Given the description of an element on the screen output the (x, y) to click on. 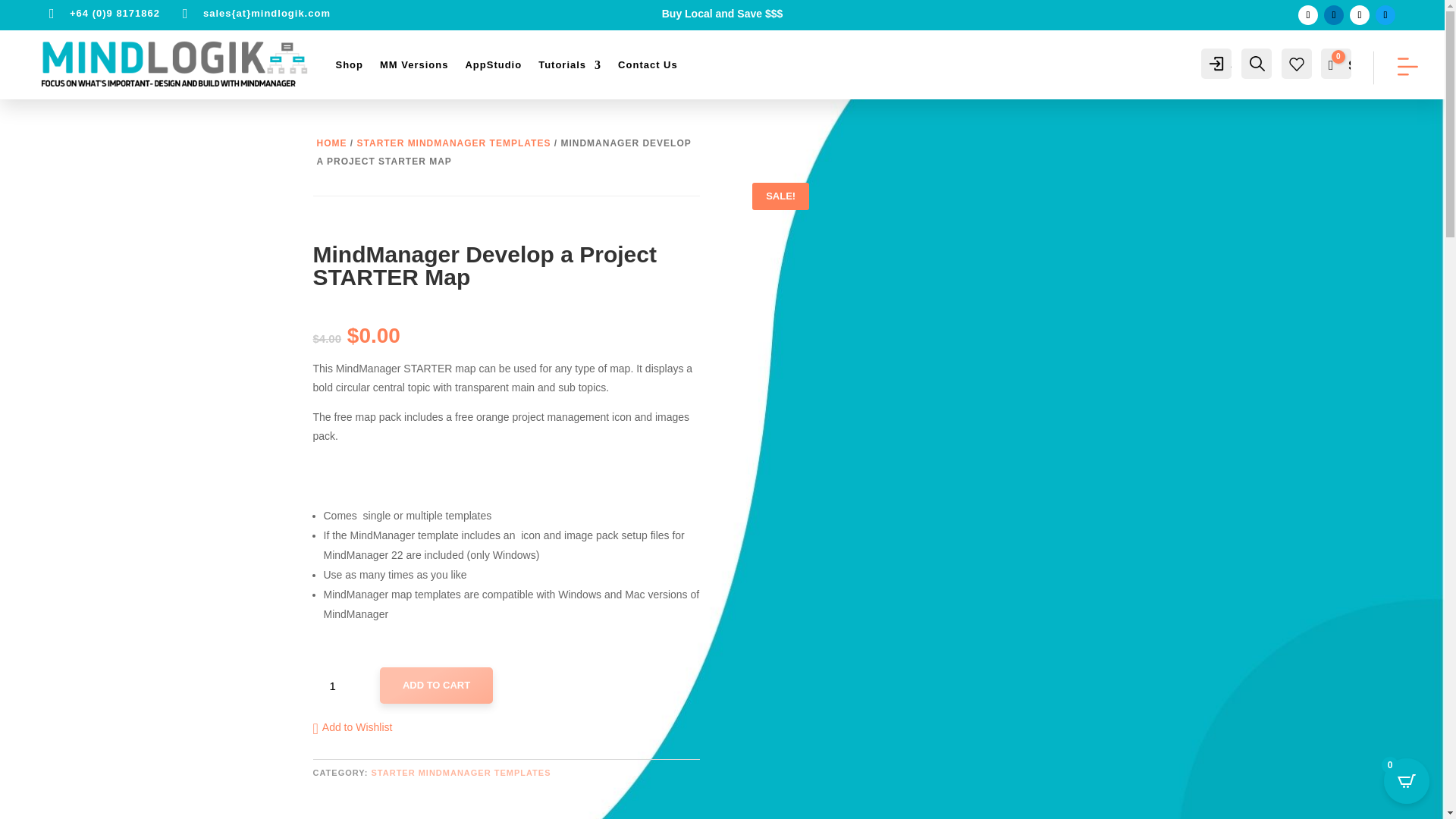
Follow on Facebook (1307, 14)
Follow on X (1359, 14)
Add to Wishlist (352, 728)
STARTER MINDMANAGER TEMPLATES (453, 143)
MM Versions (414, 64)
Tutorials (569, 64)
Follow on LinkedIn (1333, 14)
STARTER MINDMANAGER TEMPLATES (461, 772)
ADD TO CART (436, 685)
HOME (332, 143)
